Given the description of an element on the screen output the (x, y) to click on. 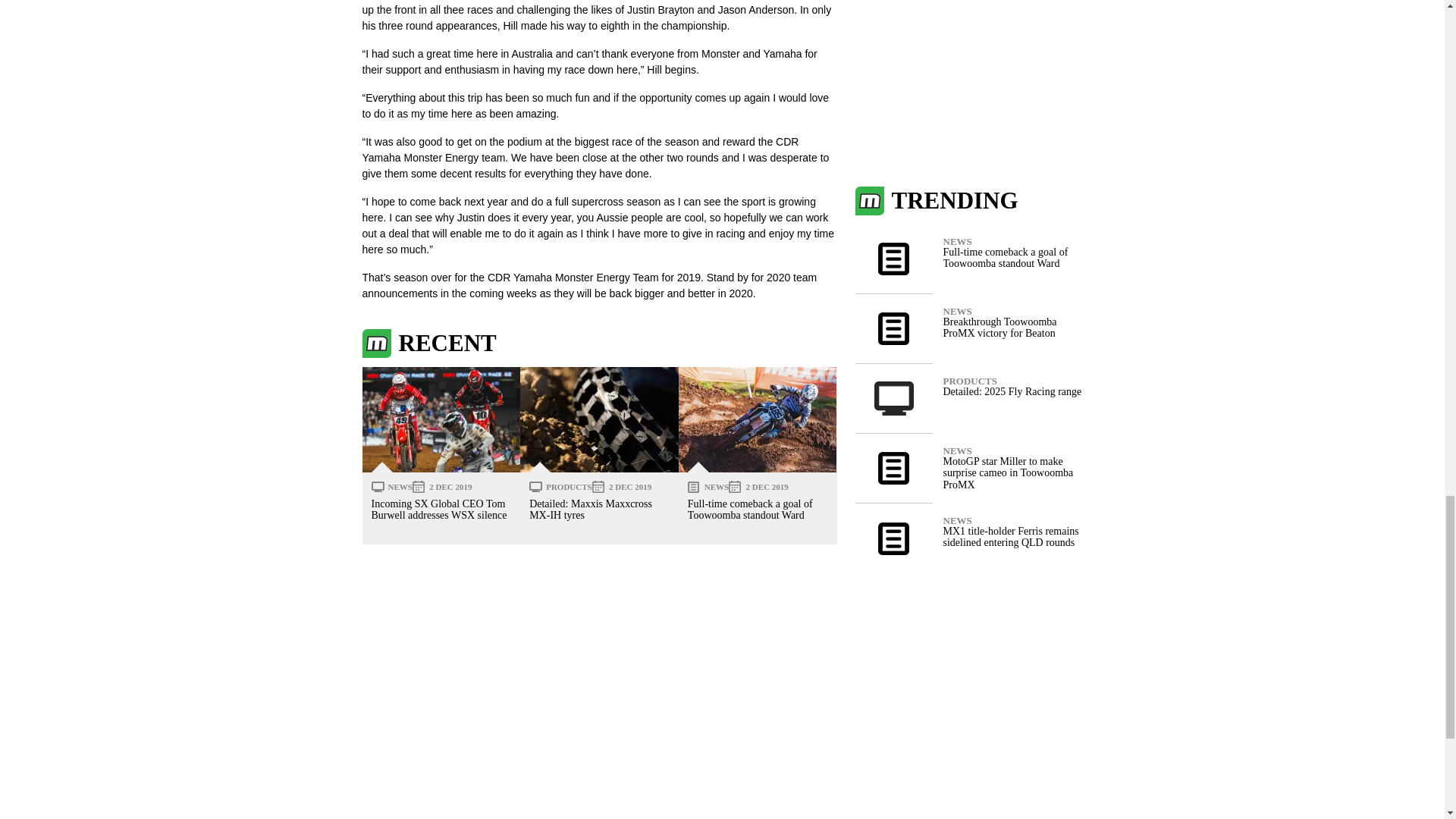
Detailed: Maxxis Maxxcross MX-IH tyres (590, 508)
Incoming SX Global CEO Tom Burwell addresses WSX silence (438, 508)
Incoming SX Global CEO Tom Burwell addresses WSX silence (441, 419)
Full-time comeback a goal of Toowoomba standout Ward (757, 419)
Detailed: Maxxis Maxxcross MX-IH tyres (598, 419)
